Given the description of an element on the screen output the (x, y) to click on. 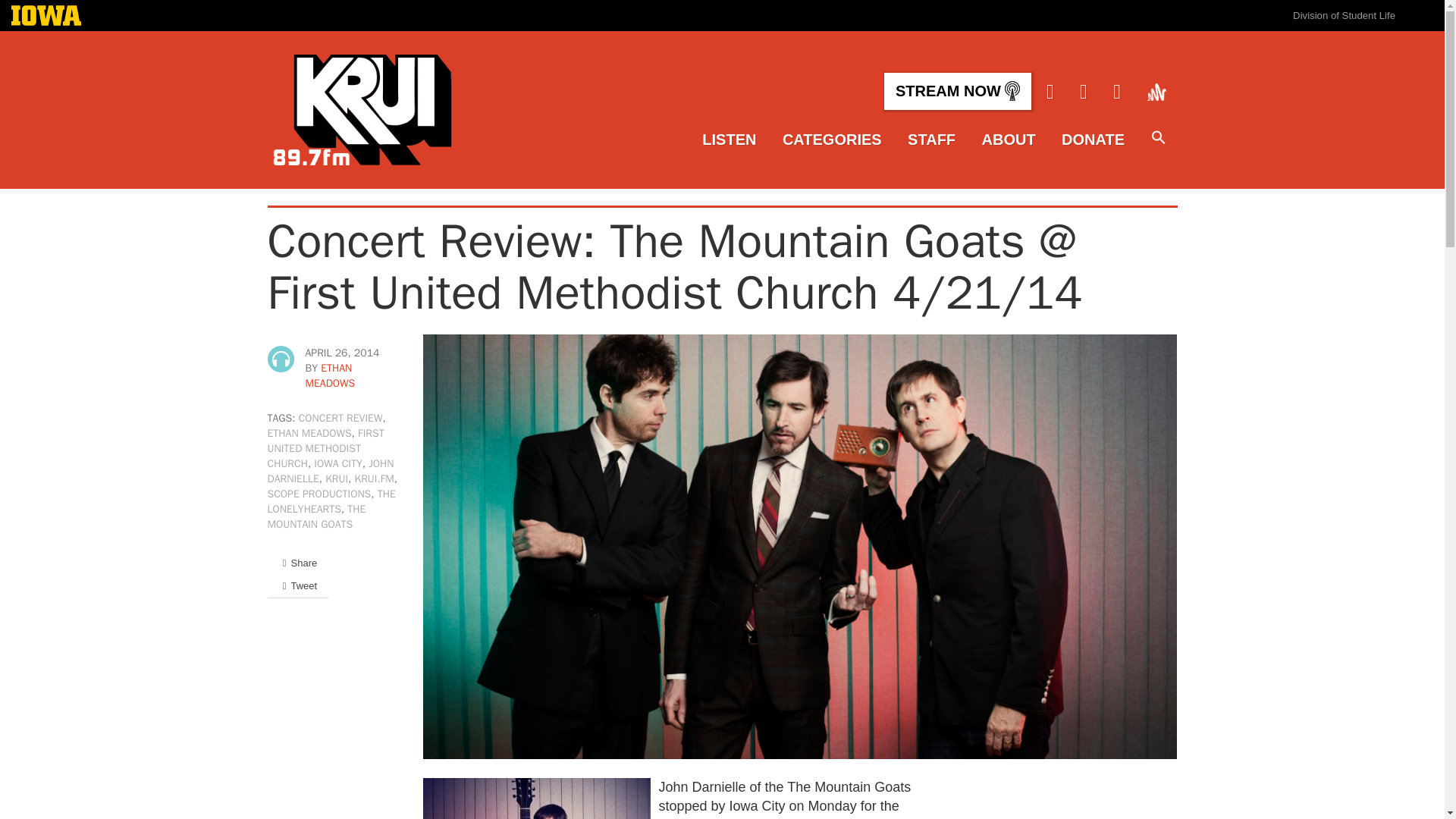
CATEGORIES (832, 139)
Share on Facebook (296, 562)
STREAM NOW (956, 90)
Division of Student Life (1343, 15)
The University of Iowa (46, 16)
ABOUT (1008, 139)
LISTEN (728, 139)
STAFF (931, 139)
Share on Twitter (296, 585)
